Given the description of an element on the screen output the (x, y) to click on. 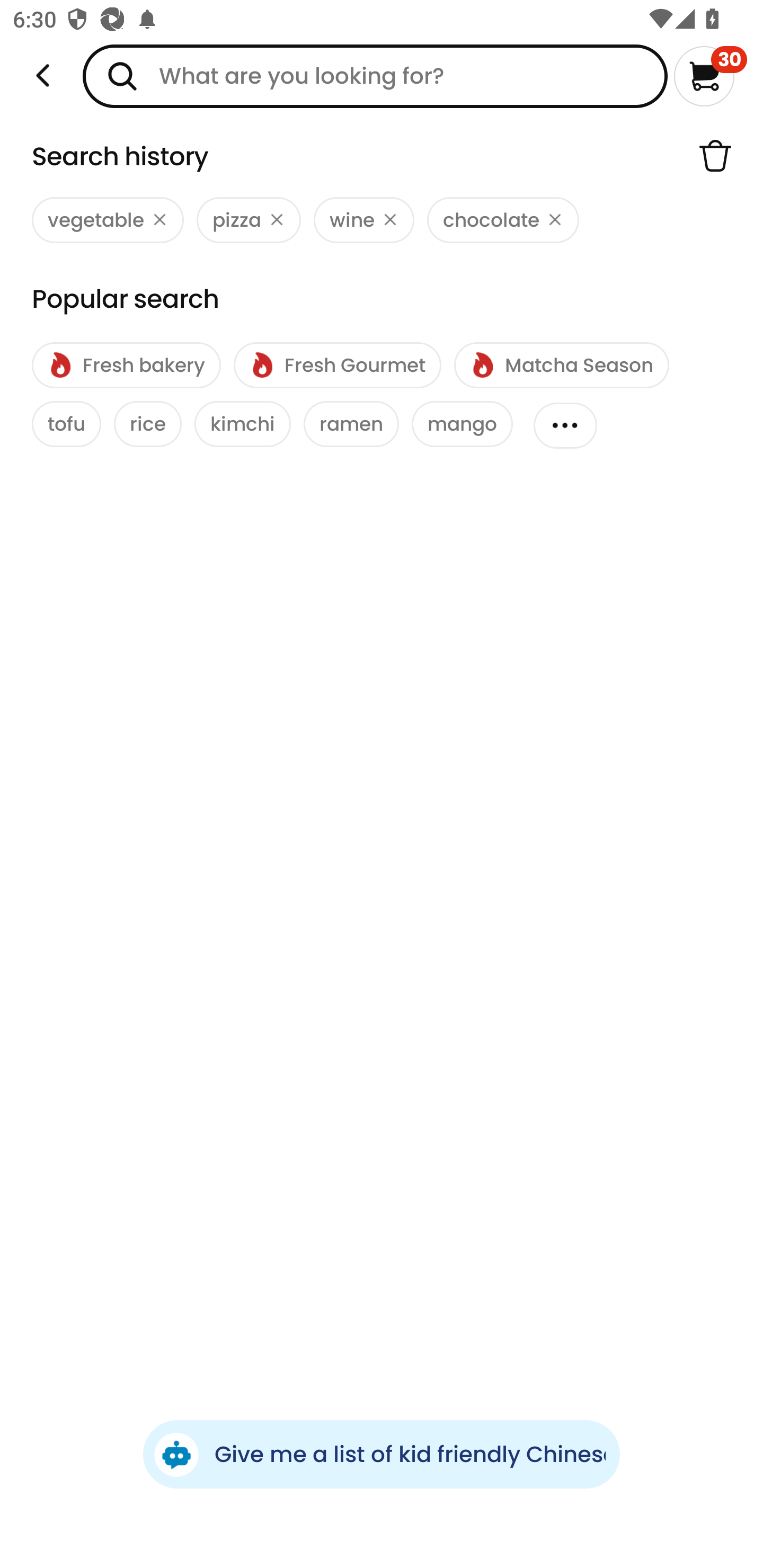
What are you looking for? (374, 75)
30 (709, 75)
Weee! (42, 76)
vegetable (107, 220)
pizza (248, 220)
wine (363, 220)
chocolate (503, 220)
Fresh bakery (126, 364)
Fresh Gourmet (337, 364)
Matcha Season (561, 364)
tofu (66, 423)
rice (147, 423)
kimchi (242, 423)
ramen (351, 423)
mango (462, 423)
